Given the description of an element on the screen output the (x, y) to click on. 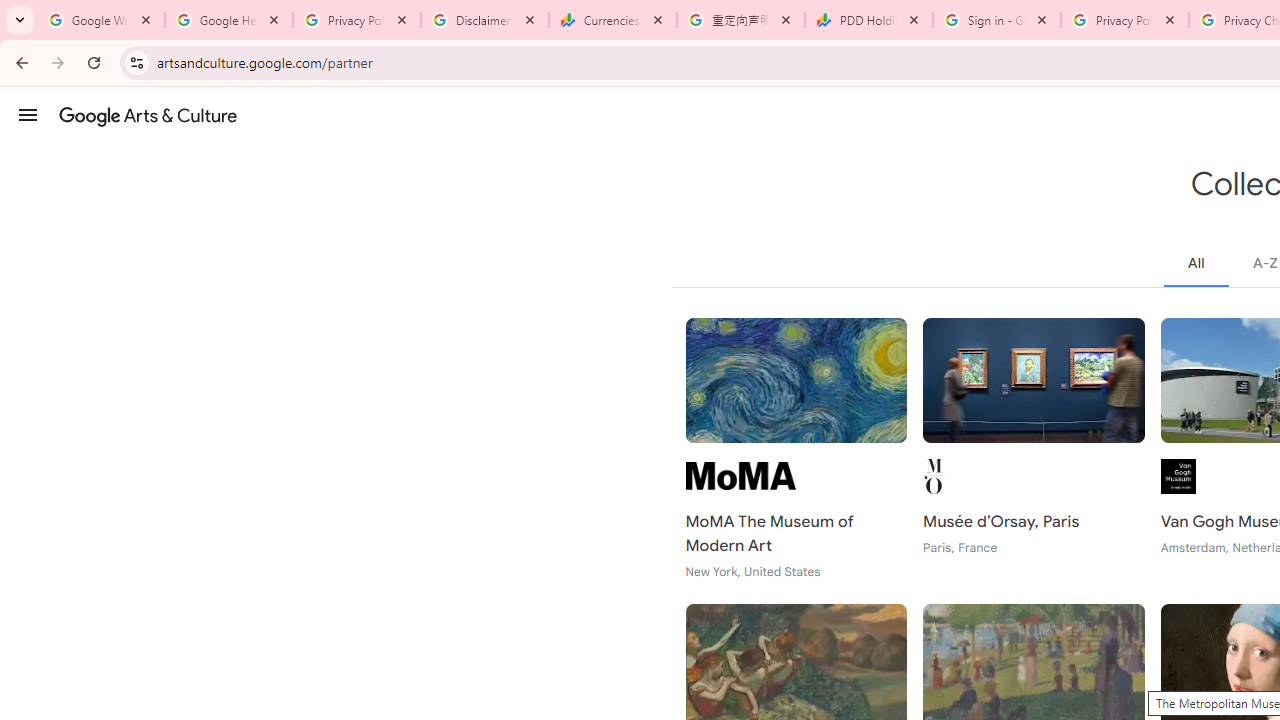
To get missing image descriptions, open the context menu. (740, 476)
All (1195, 263)
Menu (27, 114)
Google Workspace Admin Community (101, 20)
Google Arts & Culture (148, 115)
